Given the description of an element on the screen output the (x, y) to click on. 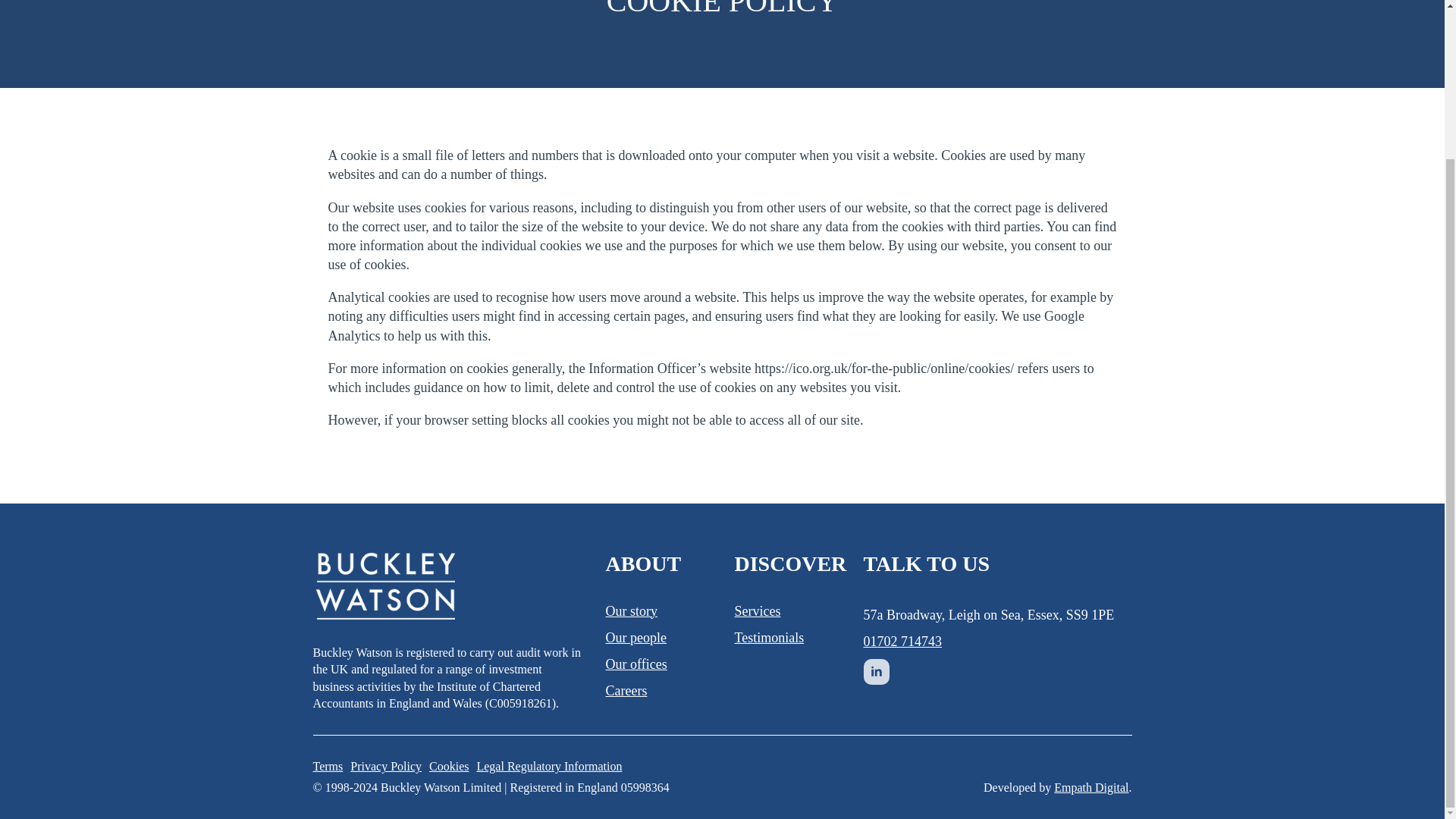
Terms (327, 766)
Our offices (635, 664)
Careers (625, 691)
01702 714743 (902, 641)
Our story (631, 610)
Cookies (448, 766)
Legal Regulatory Information (548, 766)
Services (756, 610)
Testimonials (768, 637)
Empath Digital (1091, 787)
Our people (635, 637)
Privacy Policy (386, 766)
